Given the description of an element on the screen output the (x, y) to click on. 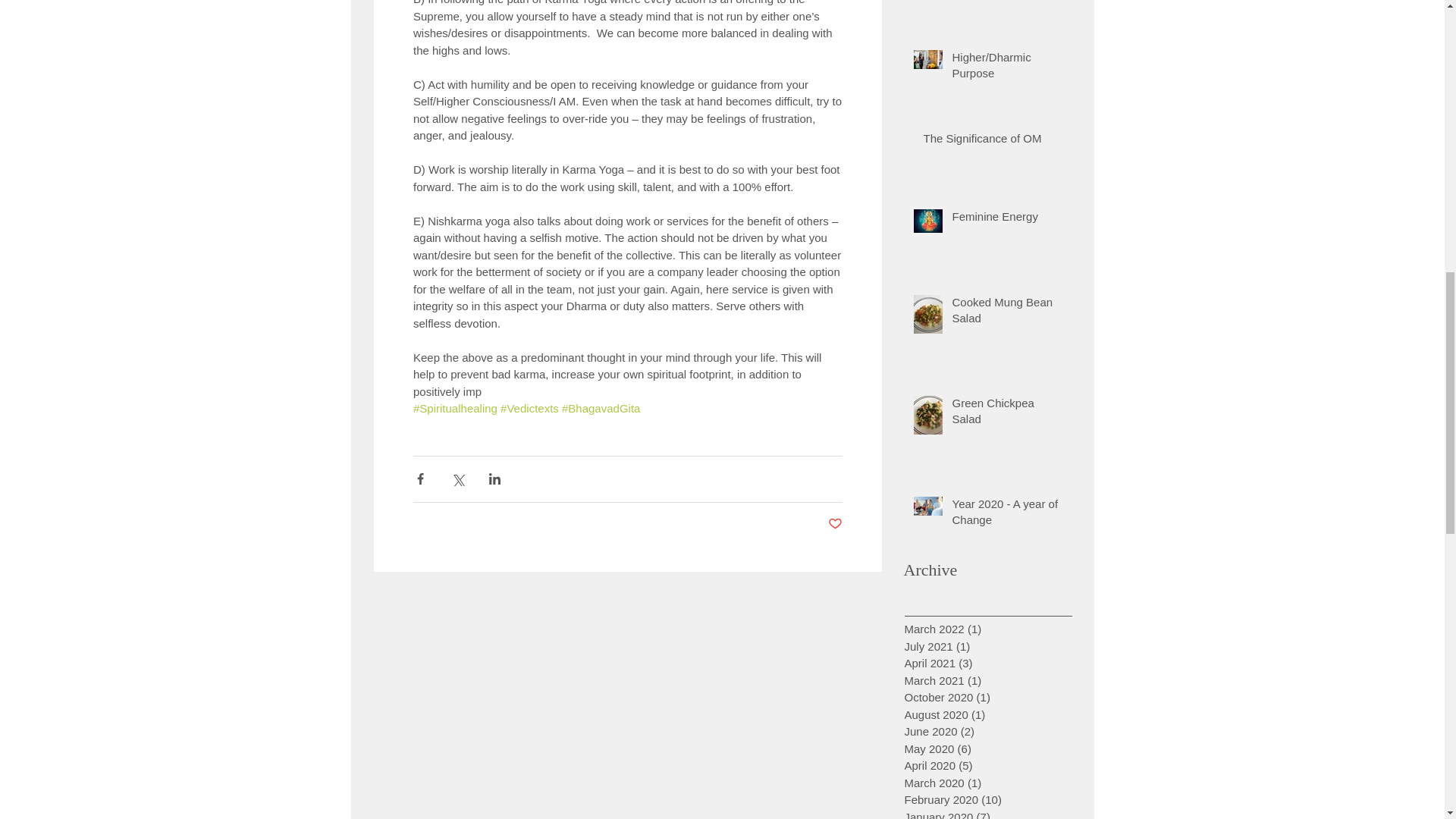
The Significance of OM (992, 141)
Post not marked as liked (835, 524)
Year 2020 - A year of Change (1006, 514)
Cooked Mung Bean Salad (1006, 313)
Green Chickpea Salad (1006, 413)
Feminine Energy (1006, 219)
